Given the description of an element on the screen output the (x, y) to click on. 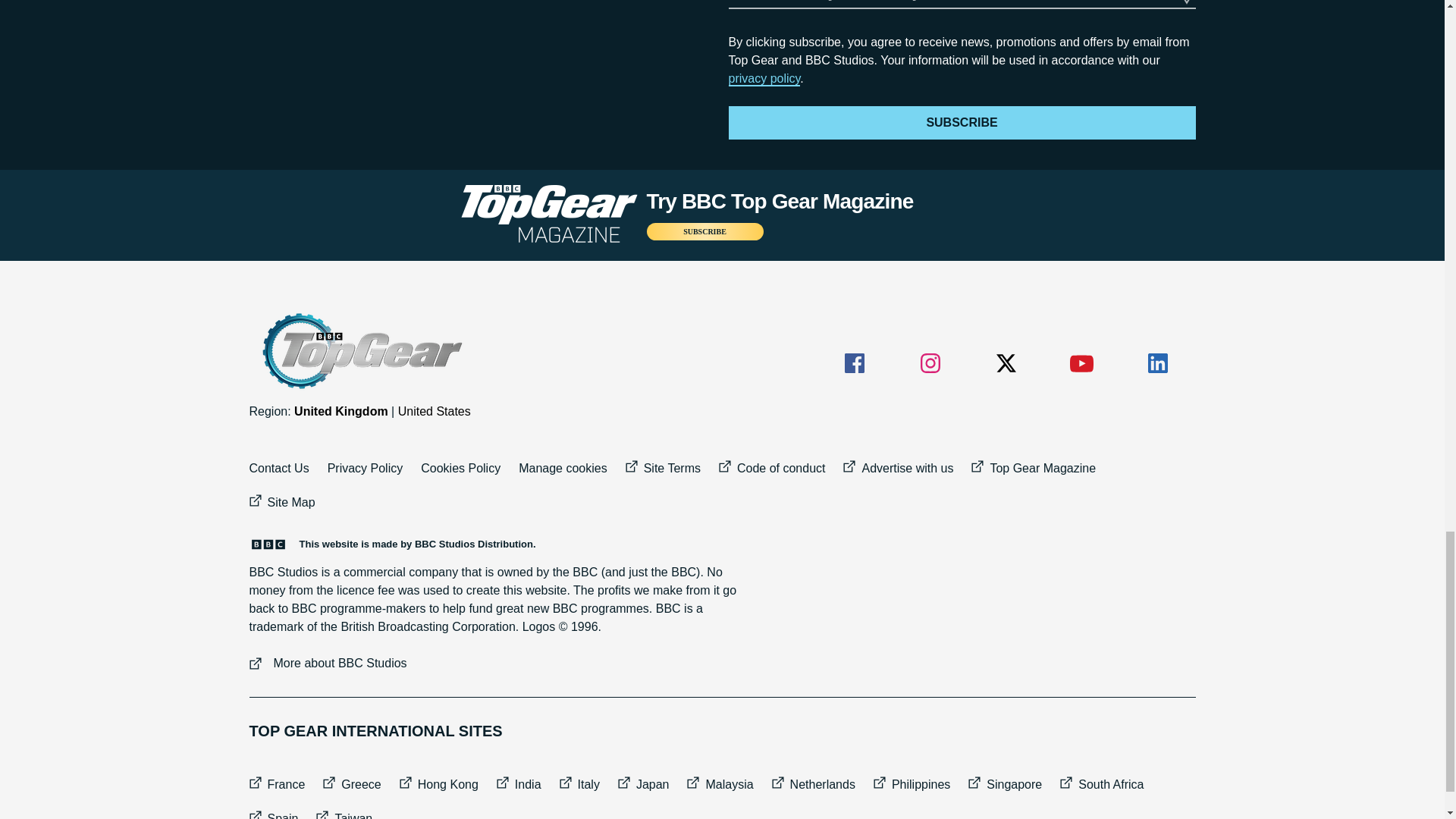
Home (359, 351)
